Given the description of an element on the screen output the (x, y) to click on. 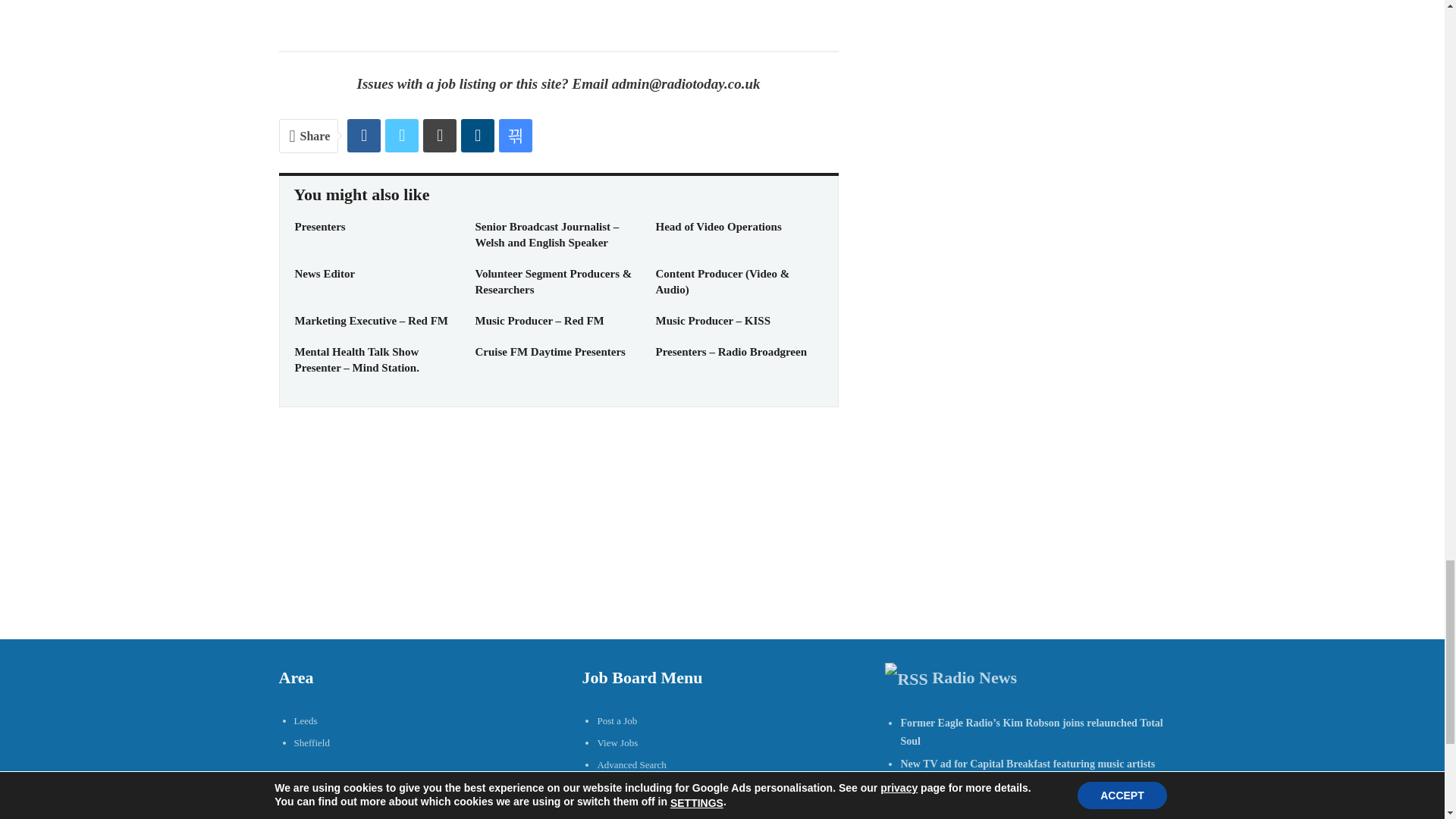
Presenters (319, 226)
Cruise FM Daytime Presenters (549, 351)
Presenters (319, 226)
Head of Video Operations (717, 226)
Head of Video Operations (717, 226)
News Editor (324, 273)
News Editor (324, 273)
